Given the description of an element on the screen output the (x, y) to click on. 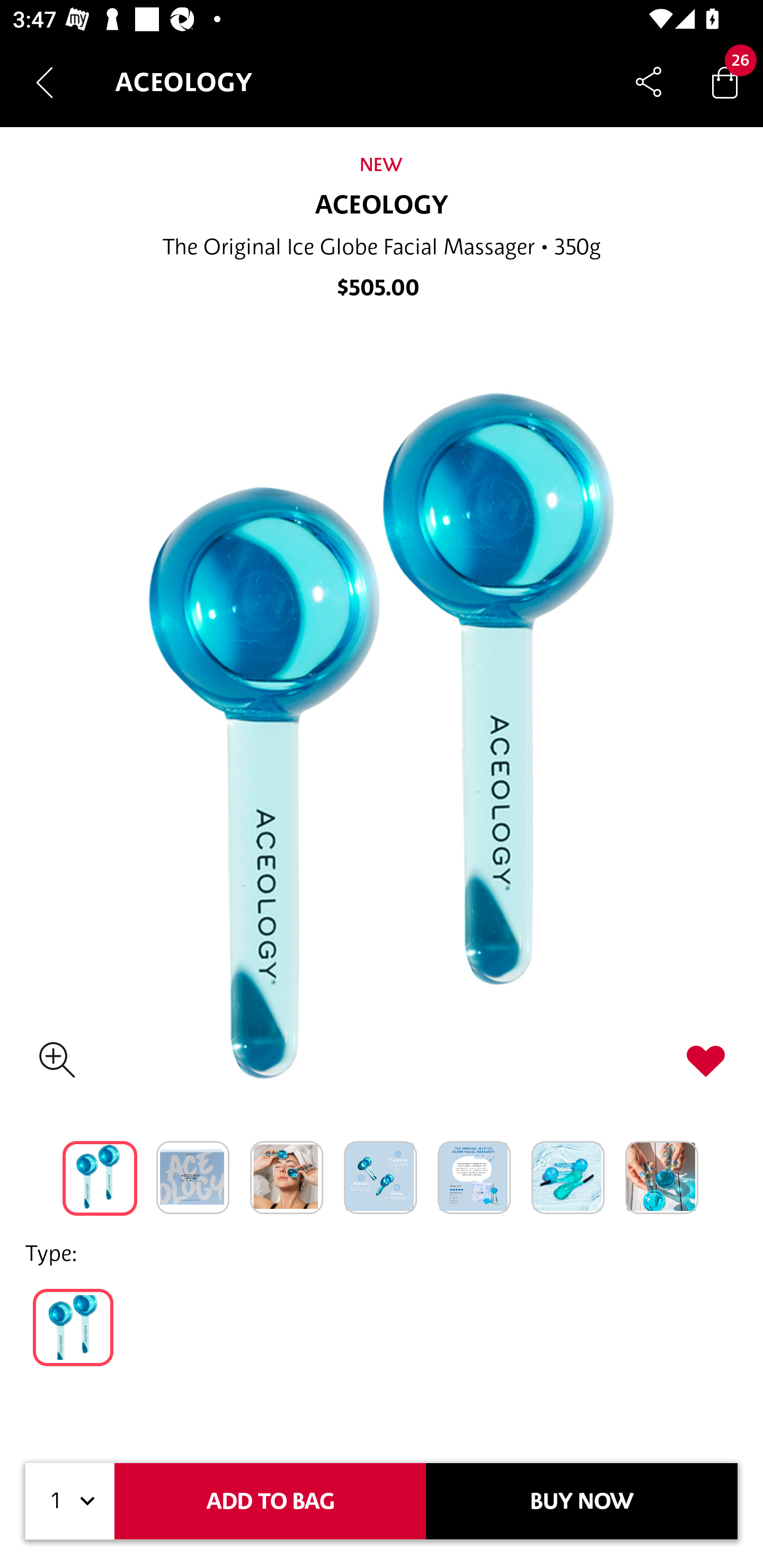
Navigate up (44, 82)
Share (648, 81)
Bag (724, 81)
ACEOLOGY (381, 205)
1 (69, 1500)
ADD TO BAG (269, 1500)
BUY NOW (581, 1500)
